Given the description of an element on the screen output the (x, y) to click on. 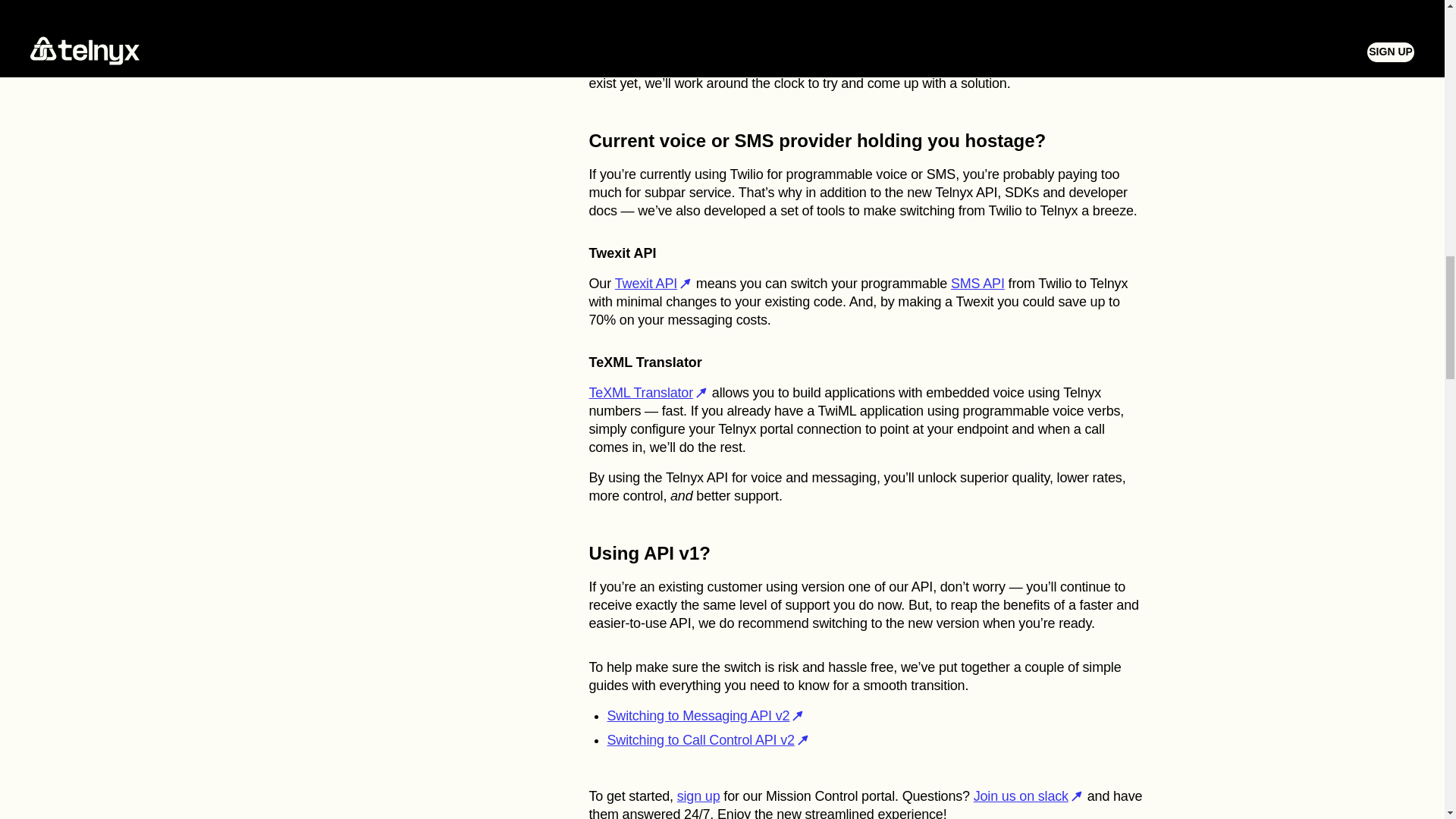
sign up (698, 795)
Join us on slack (1028, 795)
Twexit API (653, 283)
SMS API (977, 283)
TeXML Translator (647, 392)
Switching to Call Control API v2 (708, 739)
developer docs (759, 28)
Switching to Messaging API v2 (706, 715)
